Given the description of an element on the screen output the (x, y) to click on. 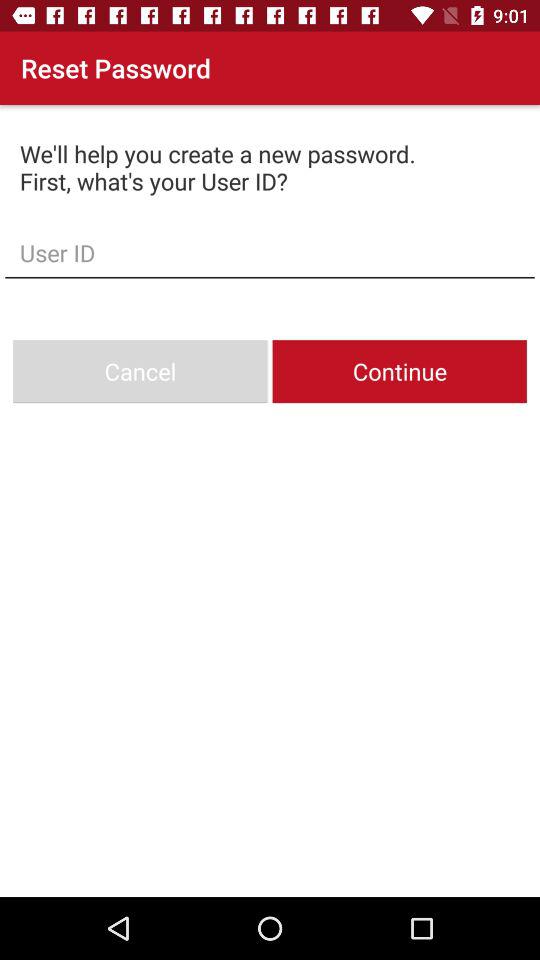
choose cancel icon (140, 371)
